Given the description of an element on the screen output the (x, y) to click on. 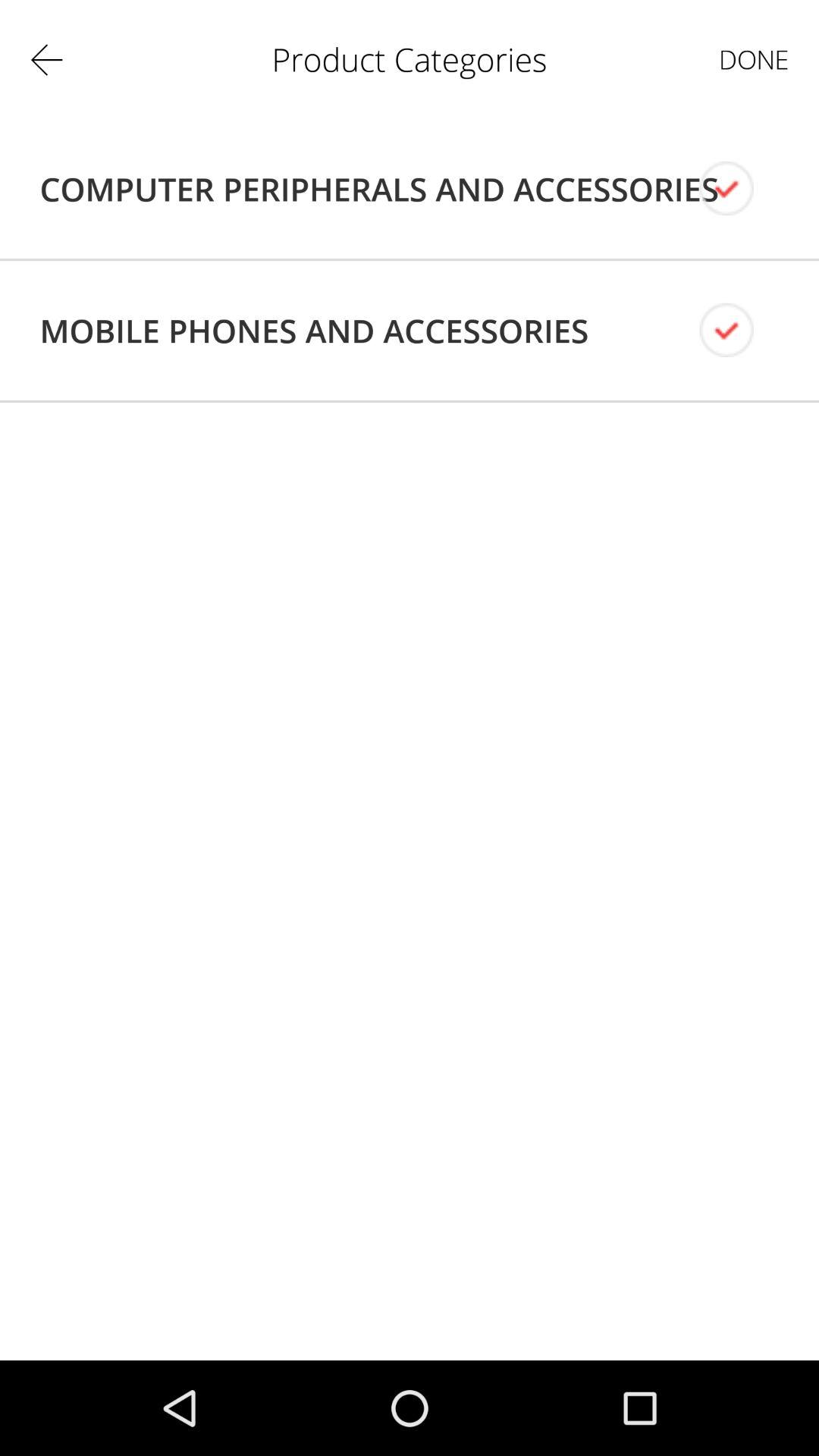
launch the icon next to done icon (378, 188)
